Given the description of an element on the screen output the (x, y) to click on. 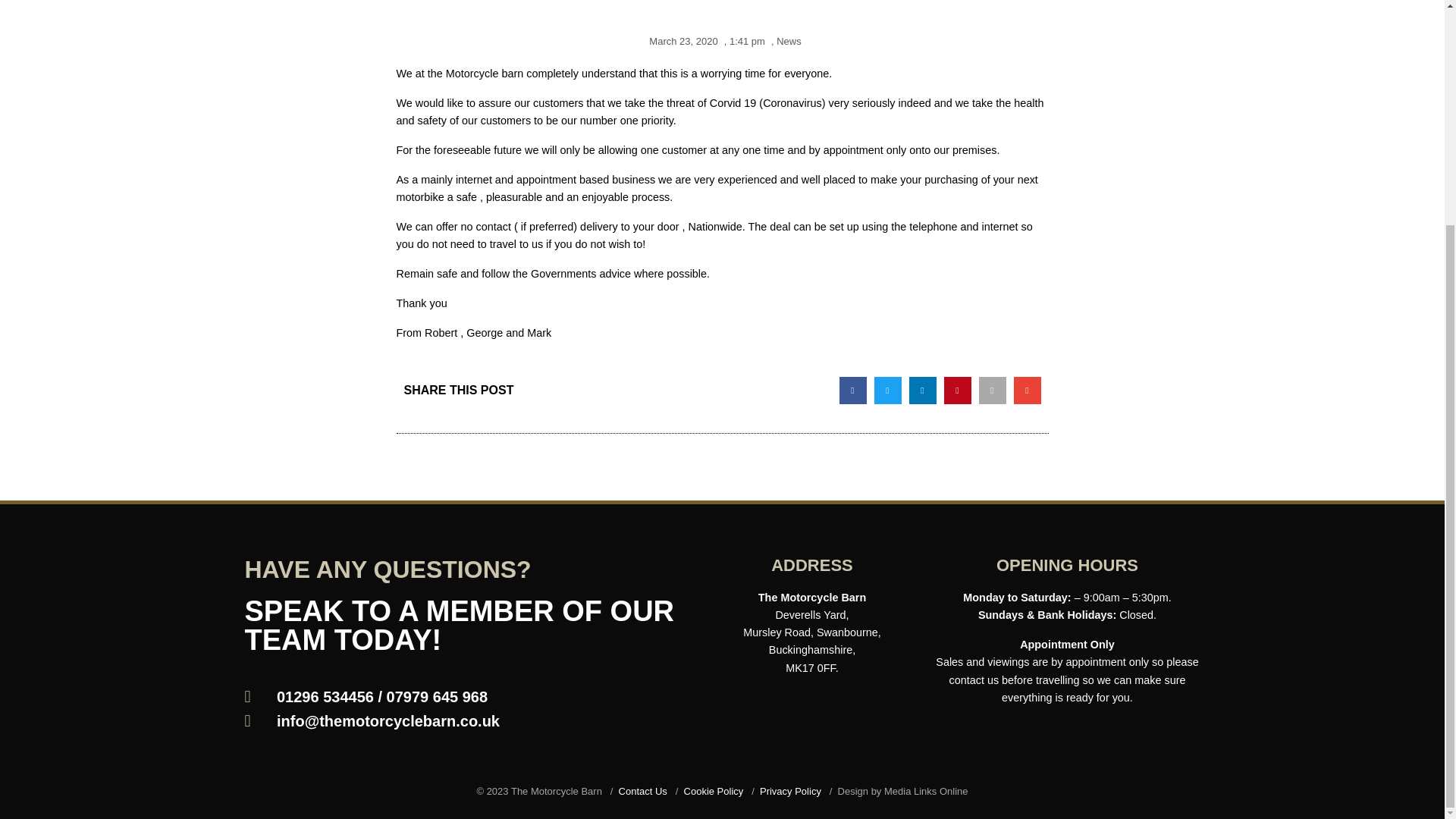
March 23, 2020 (680, 41)
01296 534456 (325, 696)
07979 645 968 (437, 696)
News (789, 41)
